Given the description of an element on the screen output the (x, y) to click on. 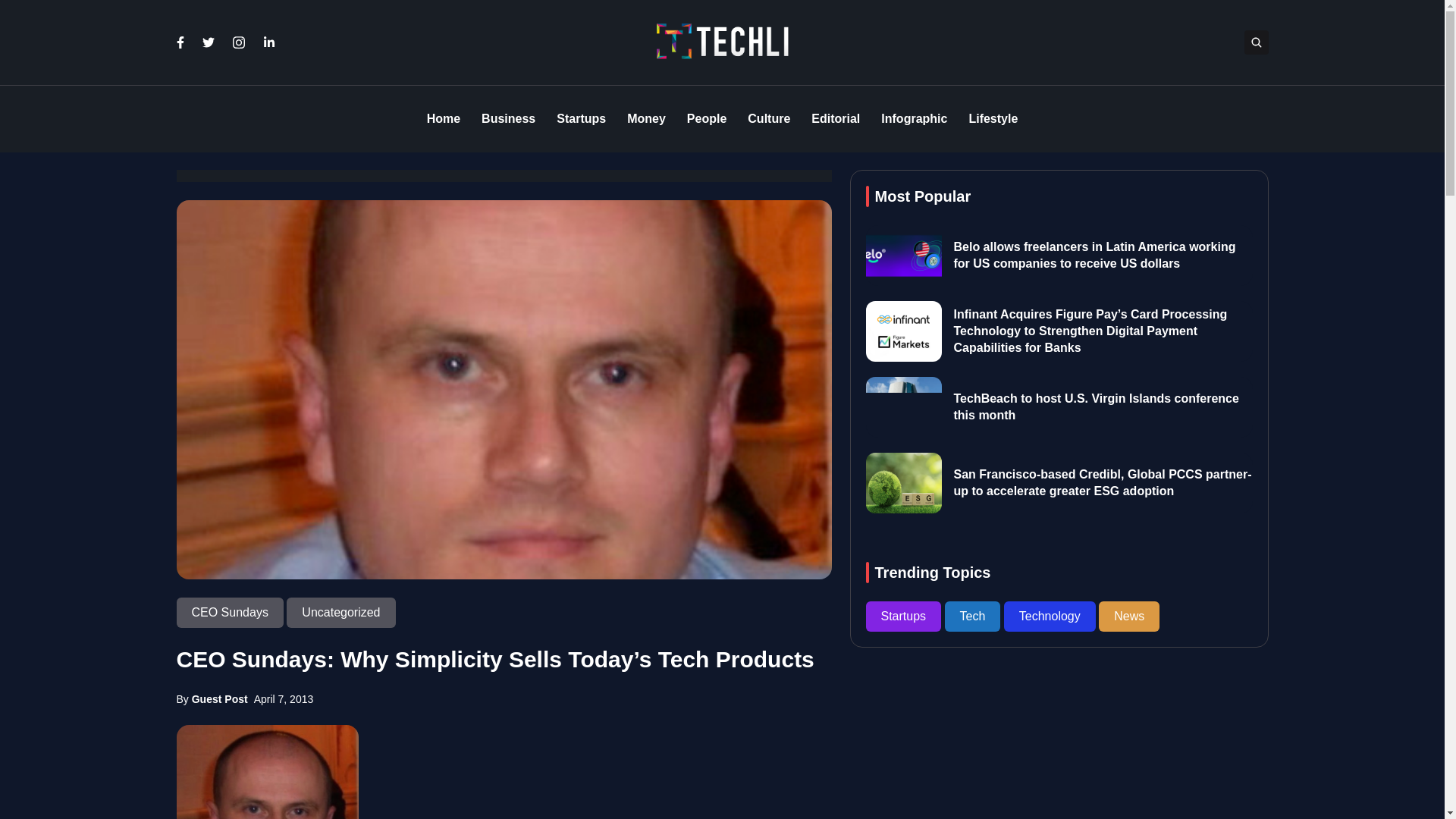
Editorial (835, 119)
People (706, 119)
Culture (769, 119)
Guest Post (219, 698)
Uncategorized (340, 612)
Business (508, 119)
Lifestyle (992, 119)
Infographic (913, 119)
Money (646, 119)
CEO Sundays (231, 612)
Home (443, 119)
Startups (580, 119)
